Given the description of an element on the screen output the (x, y) to click on. 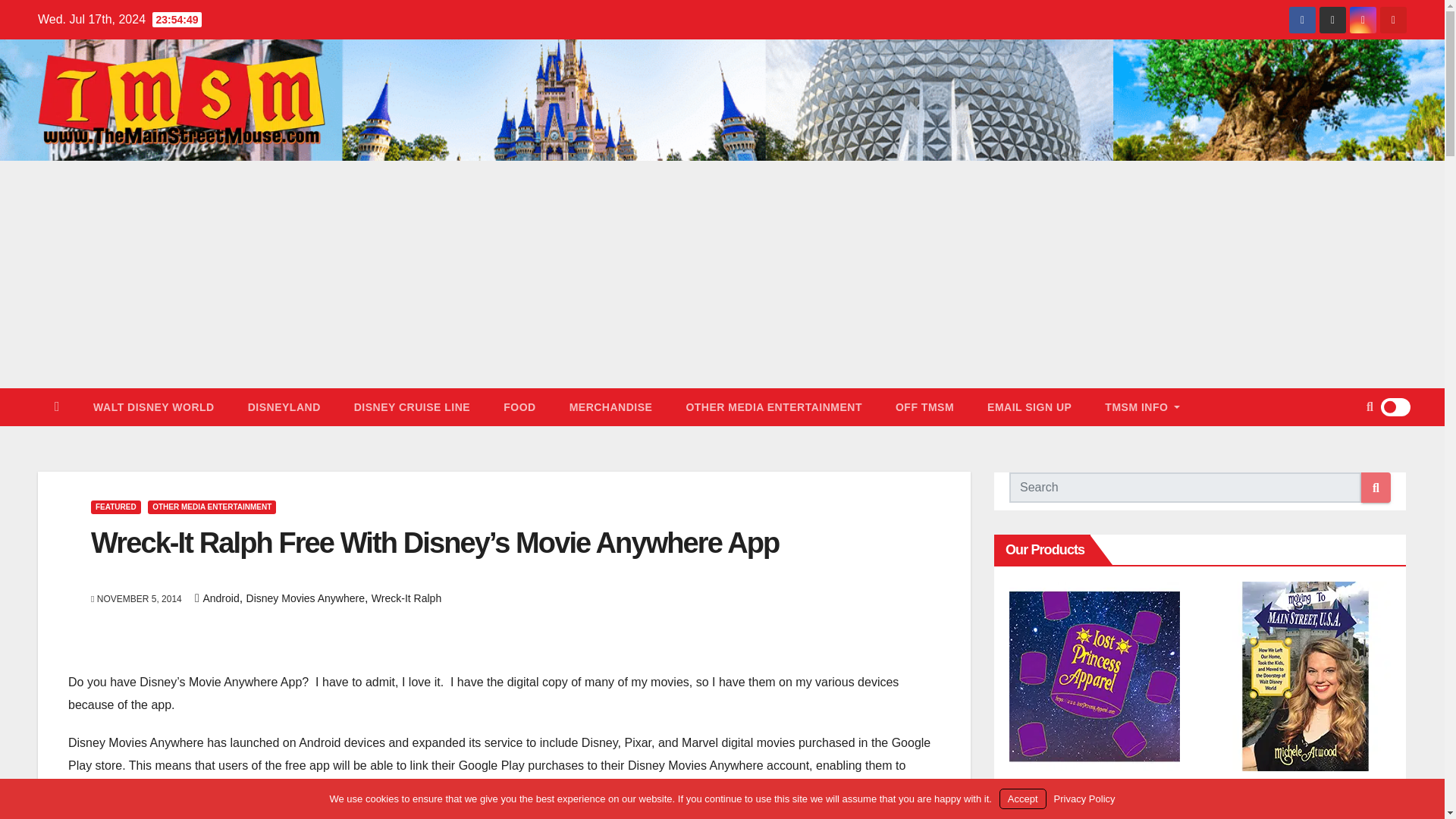
Merchandise (611, 406)
OFF TMSM (925, 406)
EMAIL SIGN UP (1029, 406)
Other Media Entertainment (773, 406)
OTHER MEDIA ENTERTAINMENT (212, 507)
TMSM Info (1141, 406)
Walt Disney World (154, 406)
Android (220, 598)
DISNEY CRUISE LINE (411, 406)
Home (57, 406)
Food (518, 406)
Email Sign Up (1029, 406)
OTHER MEDIA ENTERTAINMENT (773, 406)
DISNEYLAND (284, 406)
